Given the description of an element on the screen output the (x, y) to click on. 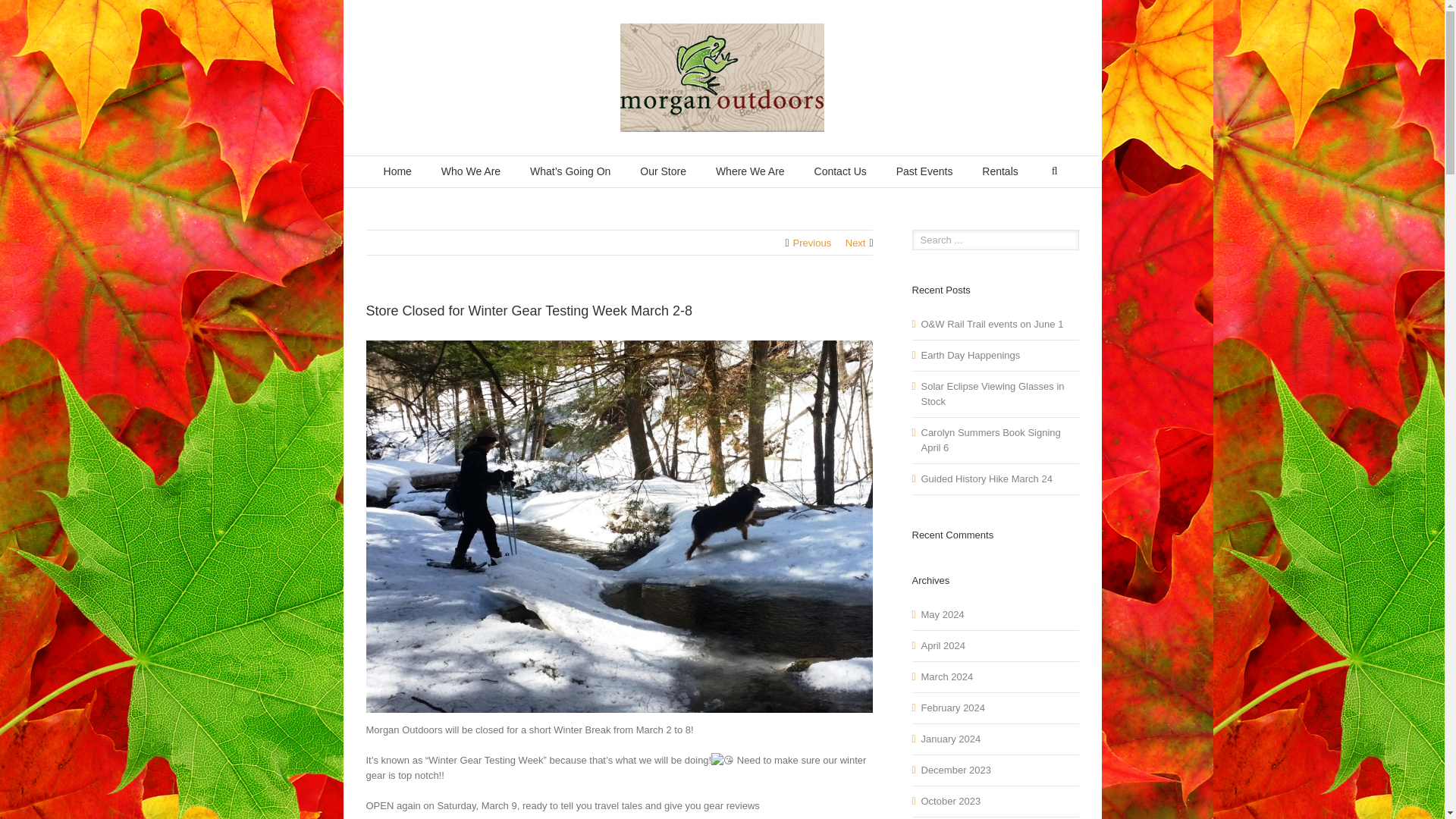
Our Store (662, 171)
Contact Us (839, 171)
Previous (812, 243)
Home (398, 171)
Where We Are (750, 171)
Who We Are (470, 171)
Rentals (999, 171)
Past Events (924, 171)
